Given the description of an element on the screen output the (x, y) to click on. 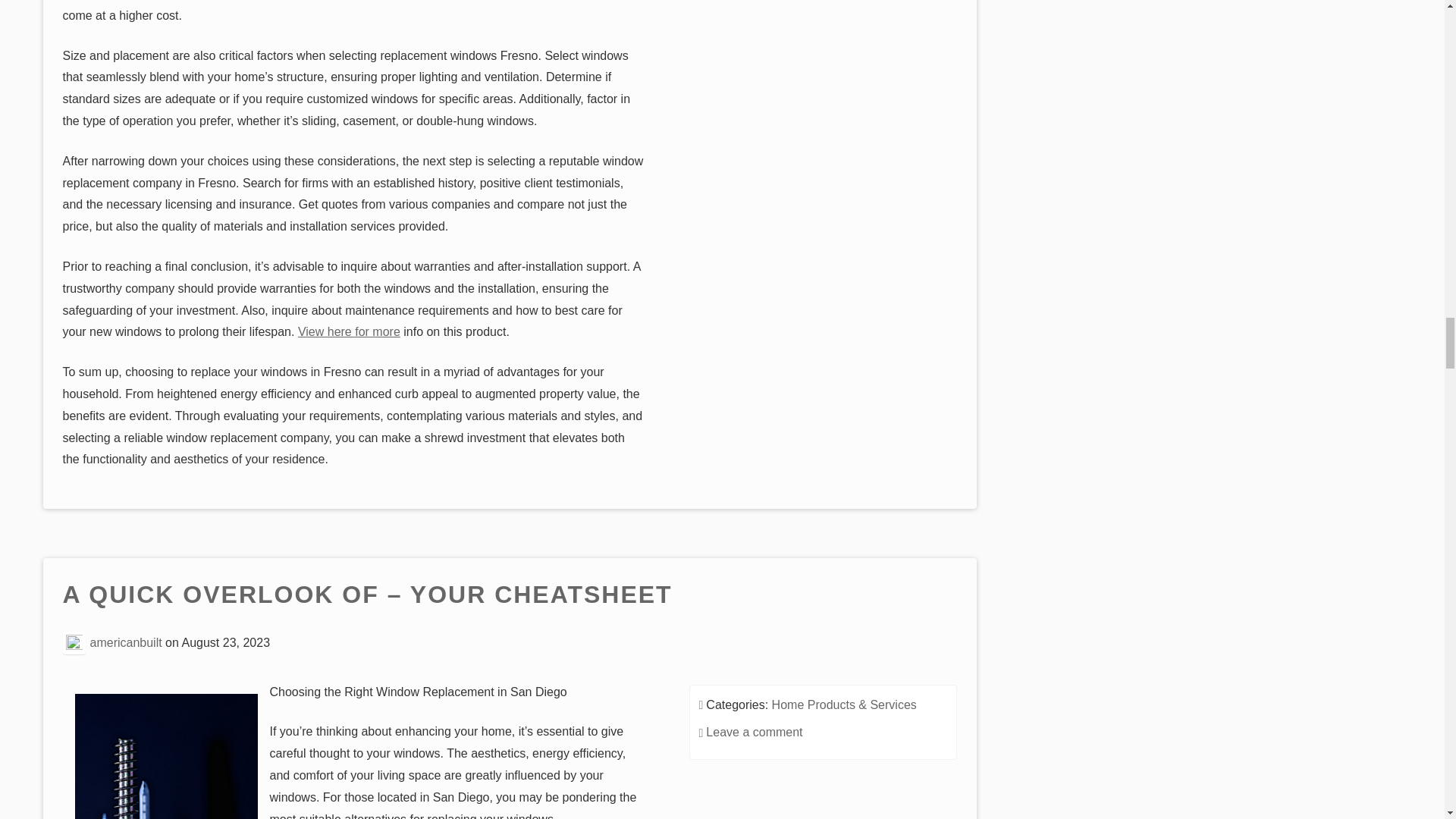
Leave a comment (754, 731)
View here for more (349, 331)
americanbuilt (125, 641)
